Given the description of an element on the screen output the (x, y) to click on. 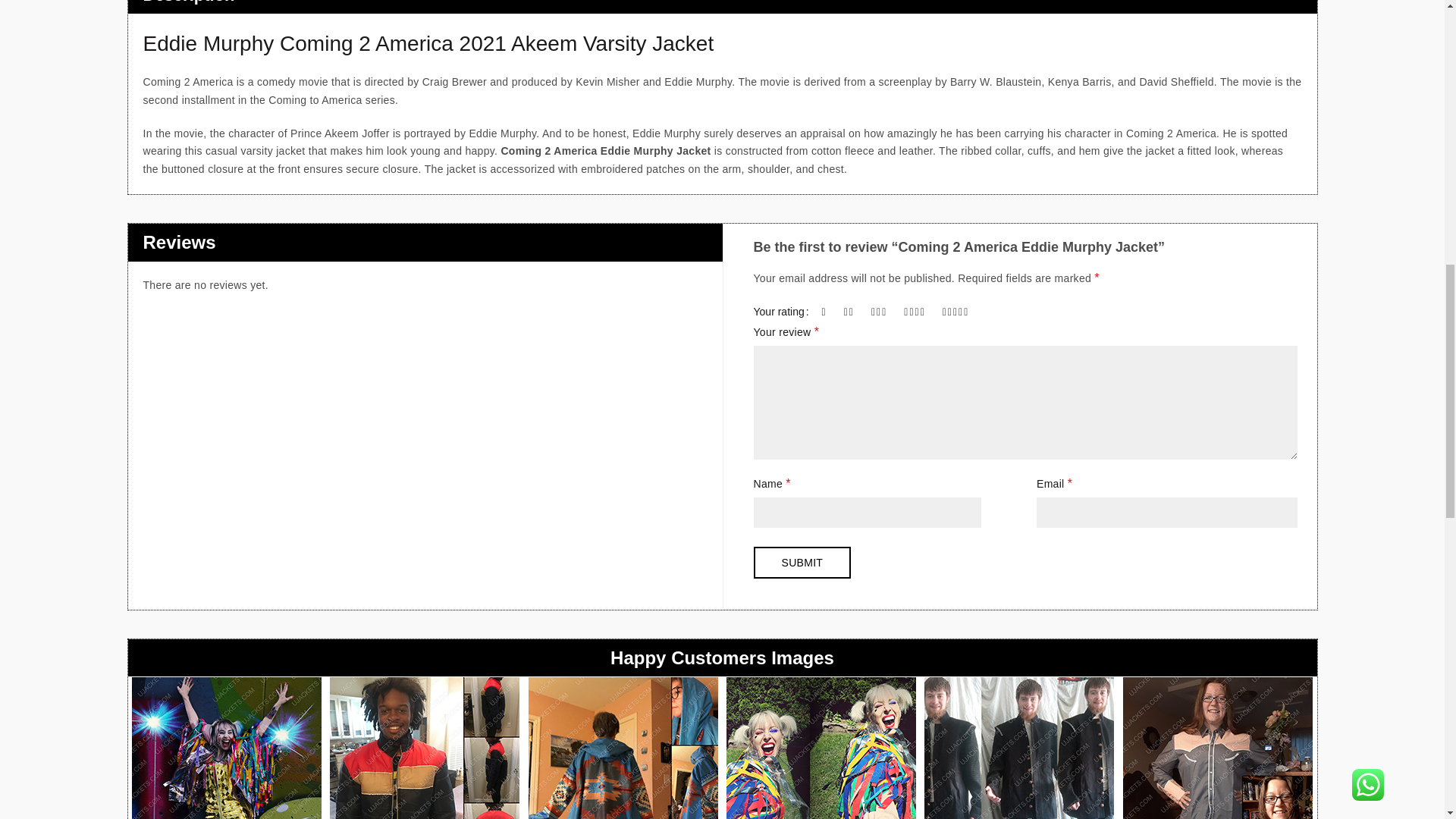
Submit (802, 562)
